Given the description of an element on the screen output the (x, y) to click on. 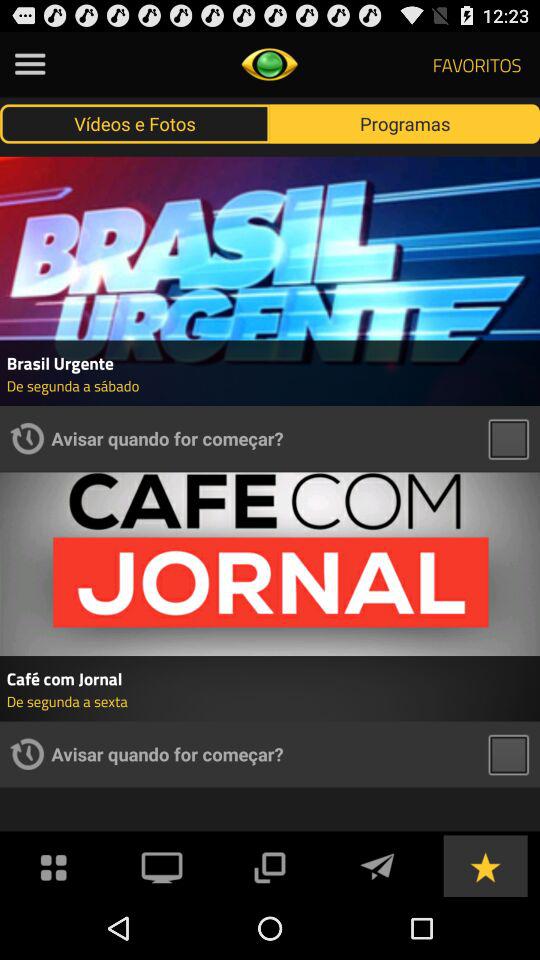
select live tv (162, 865)
